Given the description of an element on the screen output the (x, y) to click on. 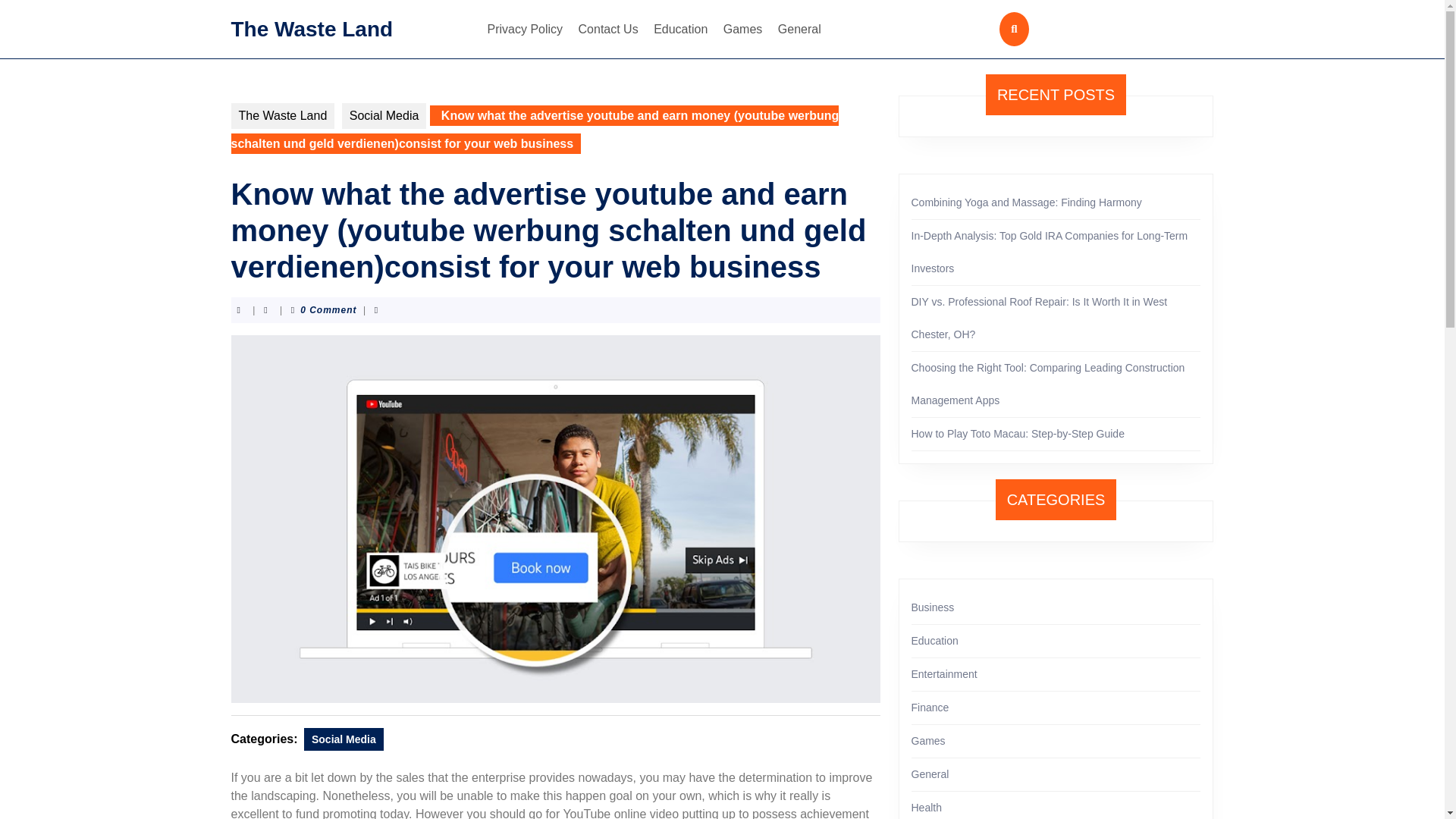
Combining Yoga and Massage: Finding Harmony (1026, 202)
The Waste Land (311, 28)
Games (742, 28)
Education (934, 640)
Education (680, 28)
How to Play Toto Macau: Step-by-Step Guide (1017, 433)
Entertainment (943, 674)
Contact Us (608, 28)
Social Media (384, 115)
Privacy Policy (524, 28)
Business (933, 607)
Social Media (344, 739)
General (799, 28)
